Given the description of an element on the screen output the (x, y) to click on. 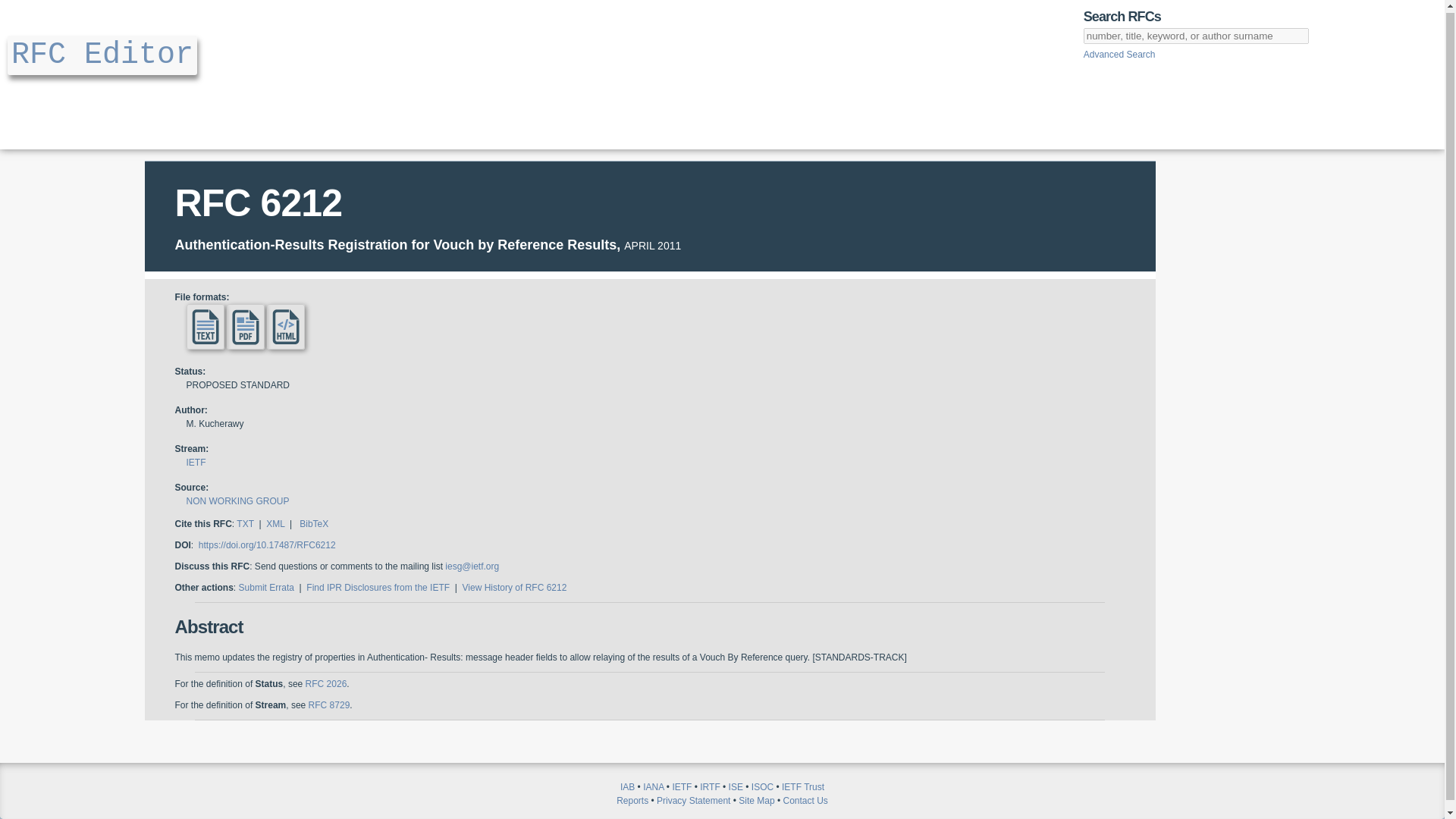
NON WORKING GROUP (237, 501)
IETF (681, 787)
ISOC (762, 787)
BibTeX (314, 523)
View History of RFC 6212 (515, 587)
TXT (244, 523)
Contact Us (805, 800)
Site Map (756, 800)
Privacy Statement (693, 800)
IETF Trust (802, 787)
IANA (653, 787)
IETF (196, 462)
IRTF (709, 787)
RFC Editor (101, 55)
Reports (631, 800)
